Given the description of an element on the screen output the (x, y) to click on. 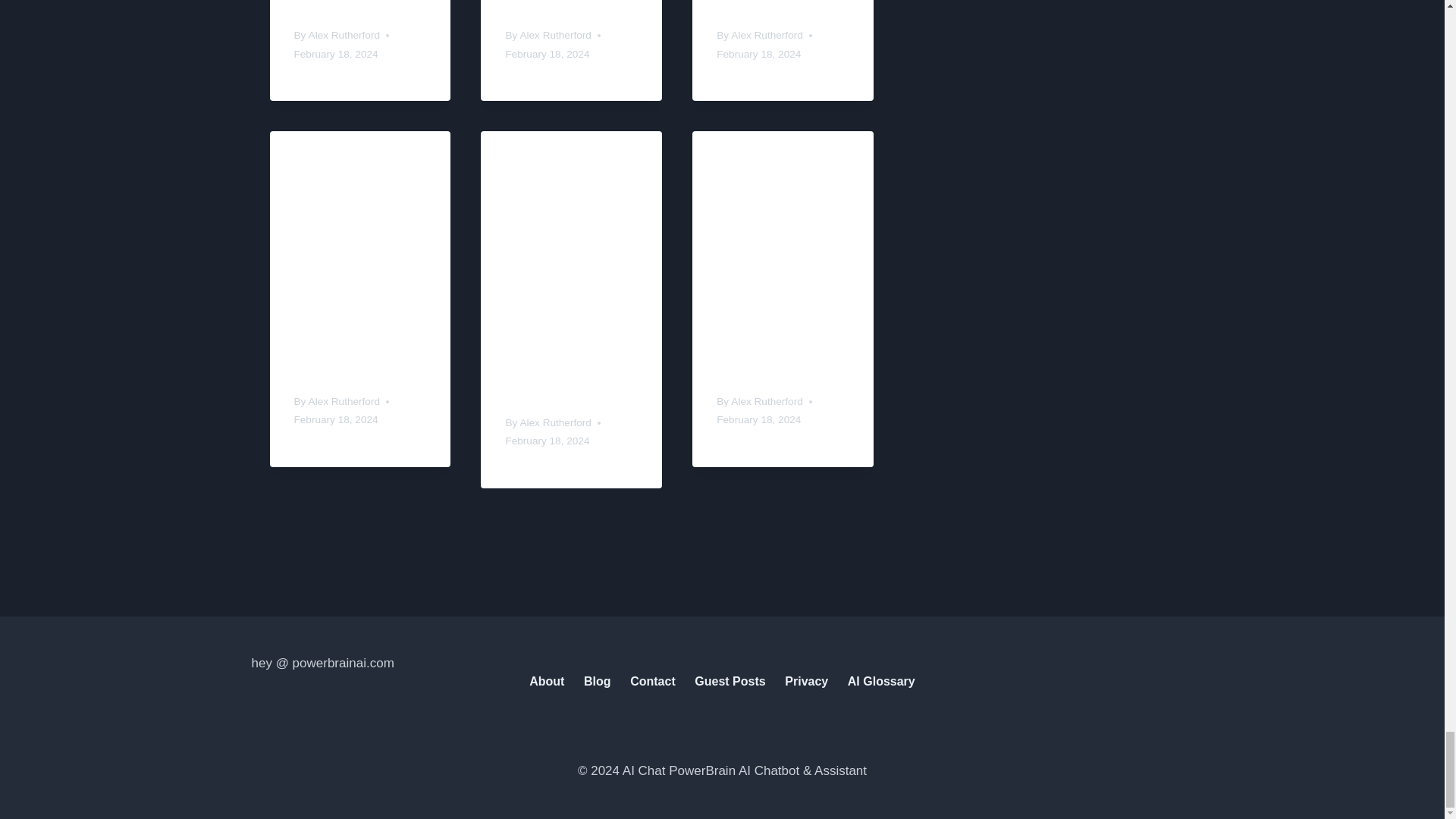
Alex Rutherford (344, 34)
Alex Rutherford (555, 34)
Alex Rutherford (766, 34)
